Given the description of an element on the screen output the (x, y) to click on. 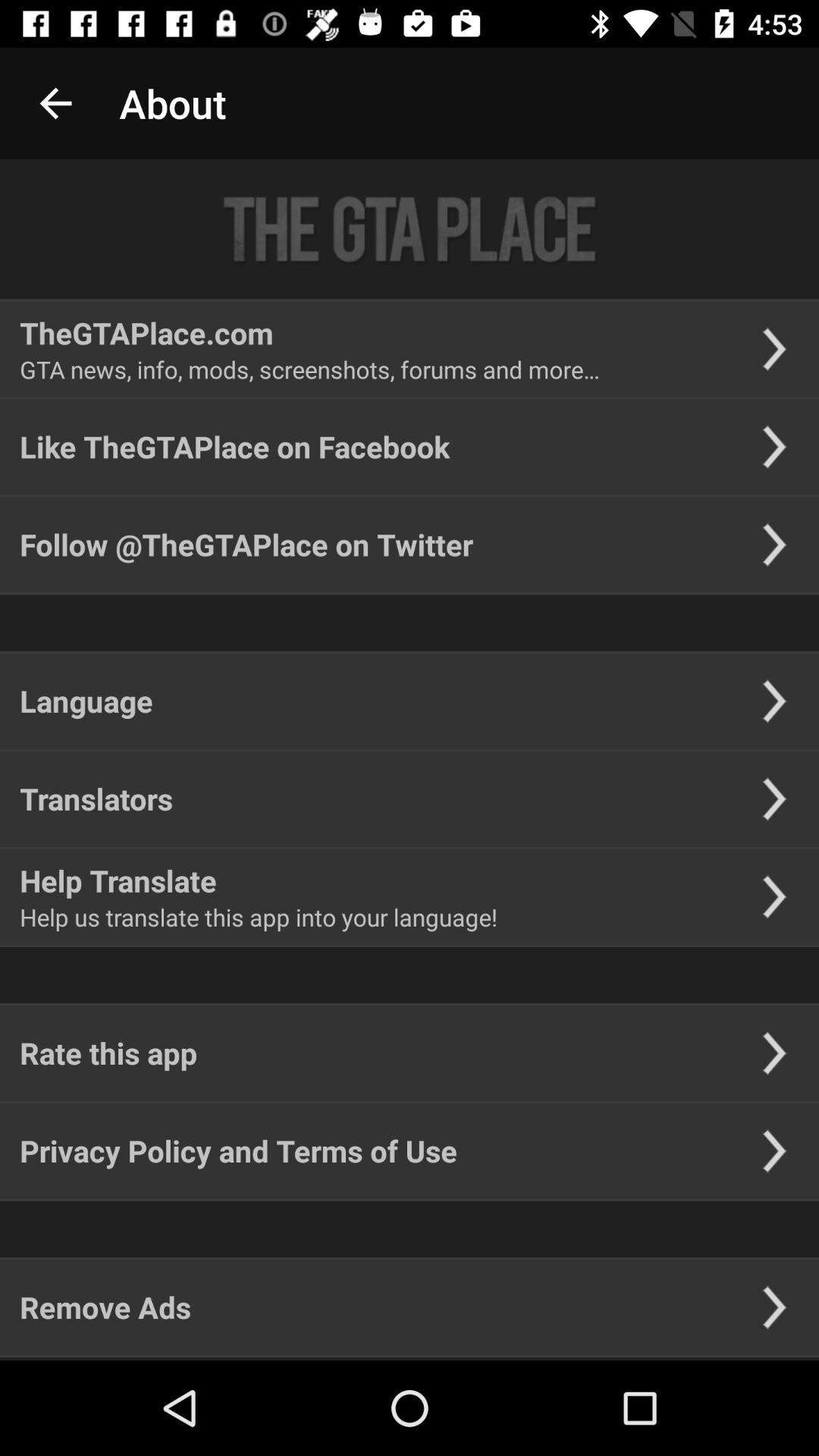
jump to the remove ads item (105, 1307)
